Given the description of an element on the screen output the (x, y) to click on. 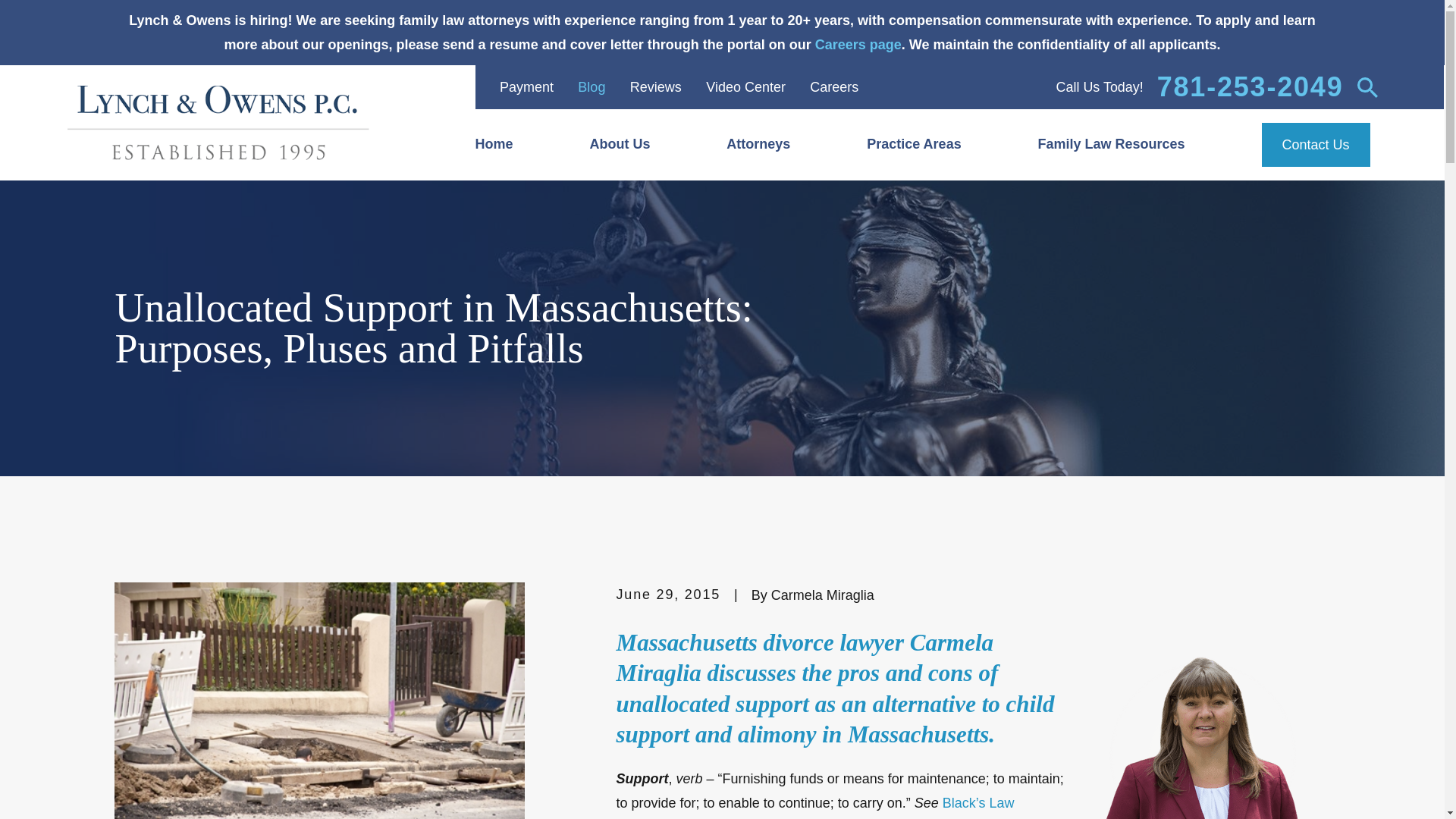
Home (217, 122)
Video Center (746, 87)
Family Law Resources (1131, 144)
Attorneys (777, 144)
Careers page (858, 44)
Payment (526, 87)
Home (513, 144)
781-253-2049 (1250, 86)
About Us (638, 144)
Blog (591, 87)
Careers (834, 87)
Practice Areas (932, 144)
Reviews (655, 87)
